Given the description of an element on the screen output the (x, y) to click on. 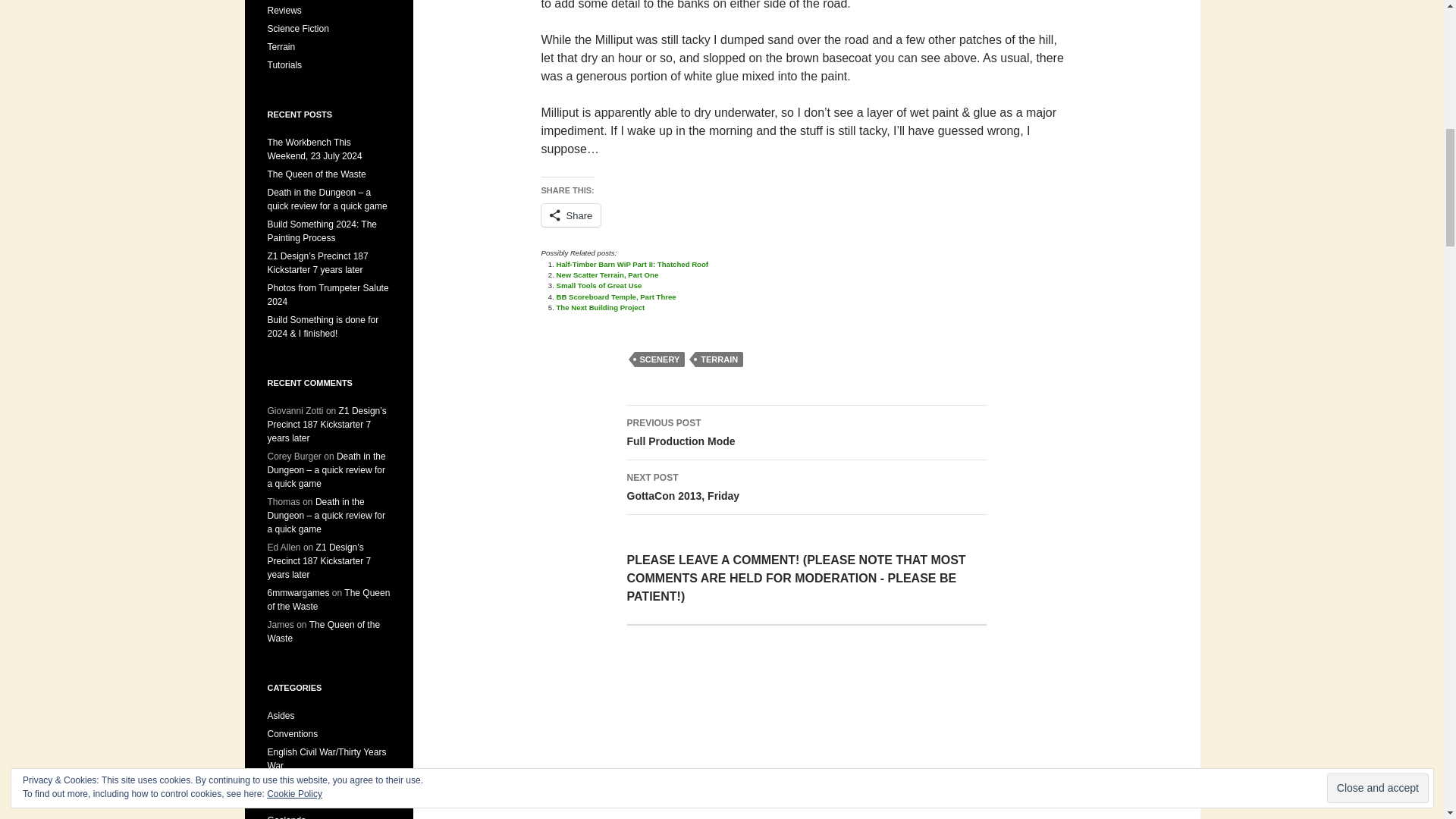
Small Tools of Great Use (599, 285)
New Scatter Terrain, Part One (607, 275)
Half-Timber Barn WiP Part II: Thatched Roof (632, 264)
Share (571, 214)
BB Scoreboard Temple, Part Three (616, 296)
Half-Timber Barn WiP Part II: Thatched Roof (632, 264)
The Next Building Project (600, 307)
BB Scoreboard Temple, Part Three (616, 296)
The Next Building Project (600, 307)
New Scatter Terrain, Part One (607, 275)
Small Tools of Great Use (599, 285)
